Given the description of an element on the screen output the (x, y) to click on. 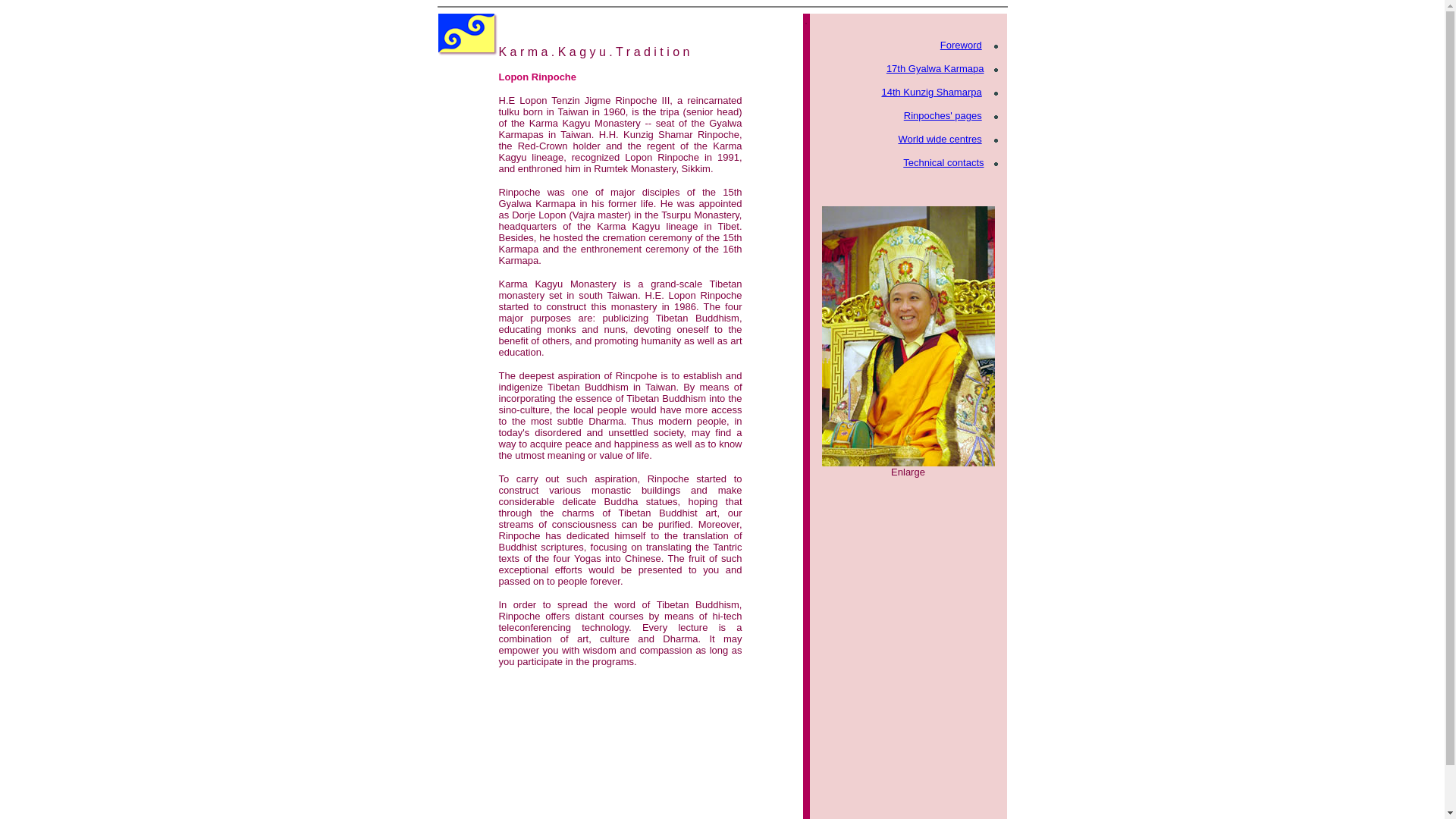
Enlarge (907, 471)
Rinpoches' pages (942, 115)
14th Kunzig Shamarpa (930, 91)
Foreword (960, 44)
17th Gyalwa Karmapa (935, 68)
Technical contacts (943, 162)
World wide centres (939, 138)
